Given the description of an element on the screen output the (x, y) to click on. 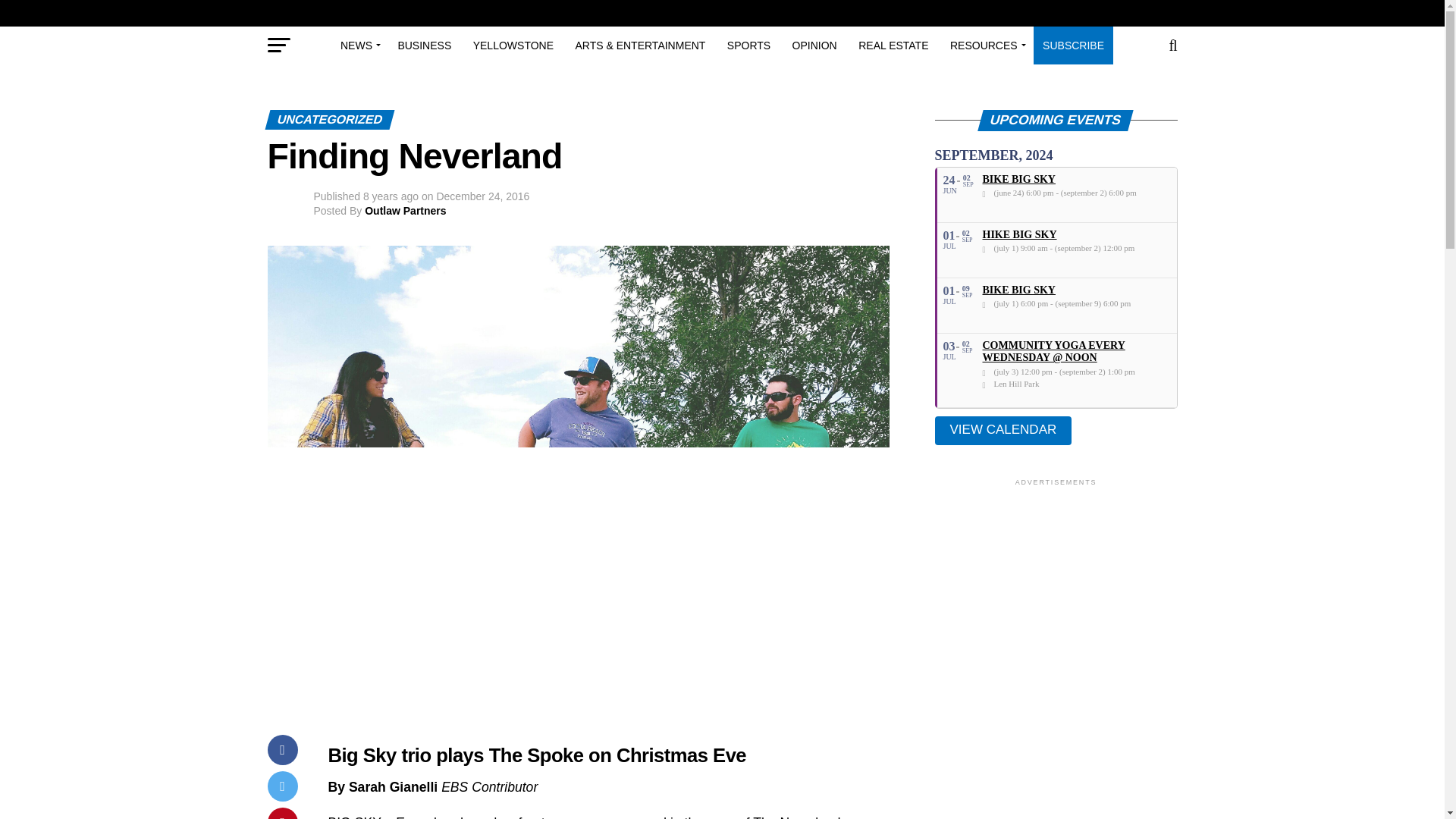
RESOURCES (985, 45)
REAL ESTATE (892, 45)
OPINION (814, 45)
NEWS (358, 45)
SPORTS (747, 45)
Posts by Outlaw Partners (405, 210)
YELLOWSTONE (513, 45)
BUSINESS (424, 45)
